Given the description of an element on the screen output the (x, y) to click on. 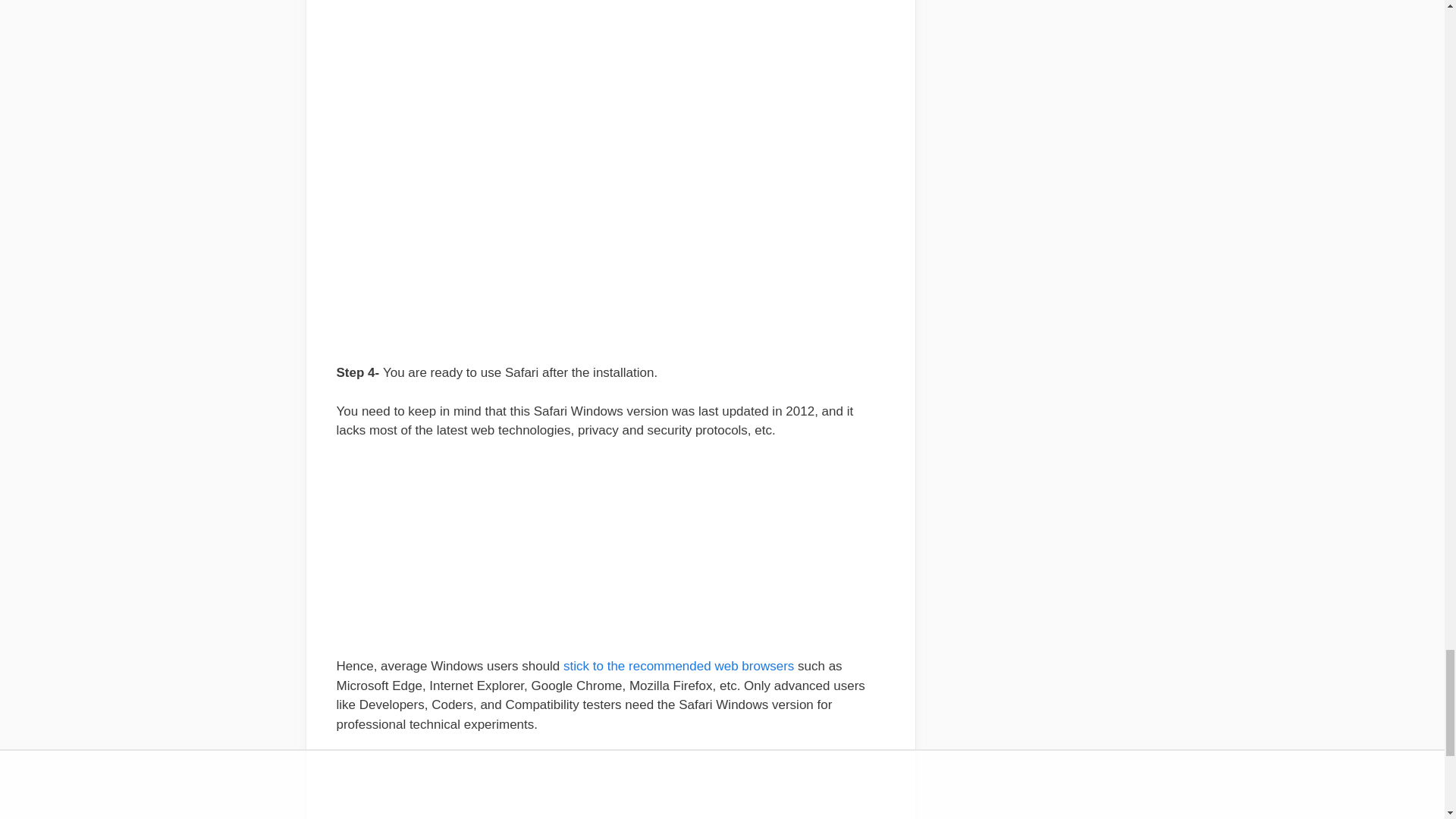
stick to the recommended web browsers (678, 666)
Complete the Windows Safari Installation process (610, 198)
Launch the Safari Setup file (609, 17)
